Given the description of an element on the screen output the (x, y) to click on. 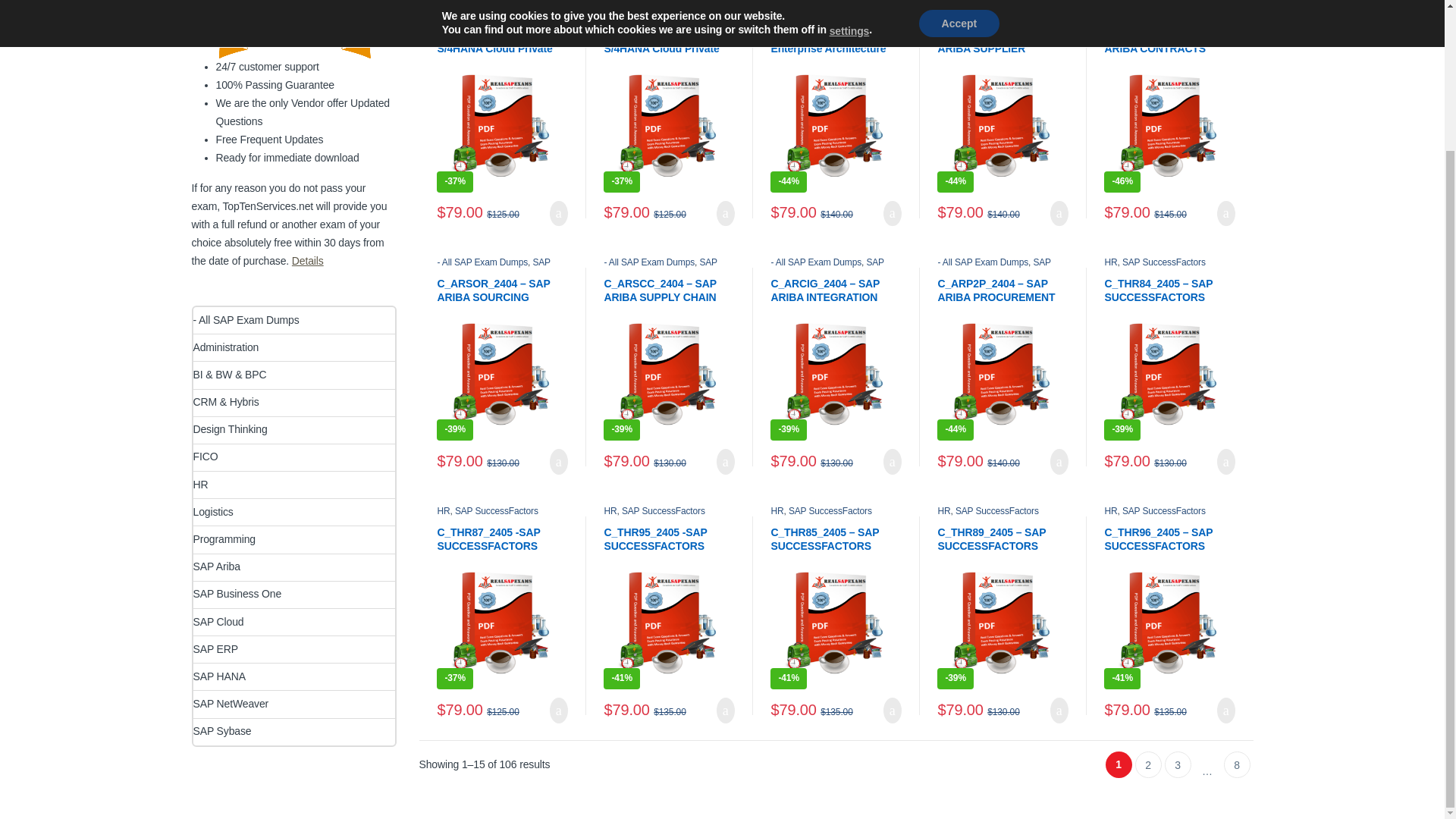
- All SAP Exam Dumps (481, 14)
SAP ERP (494, 23)
Logistics (453, 23)
